Given the description of an element on the screen output the (x, y) to click on. 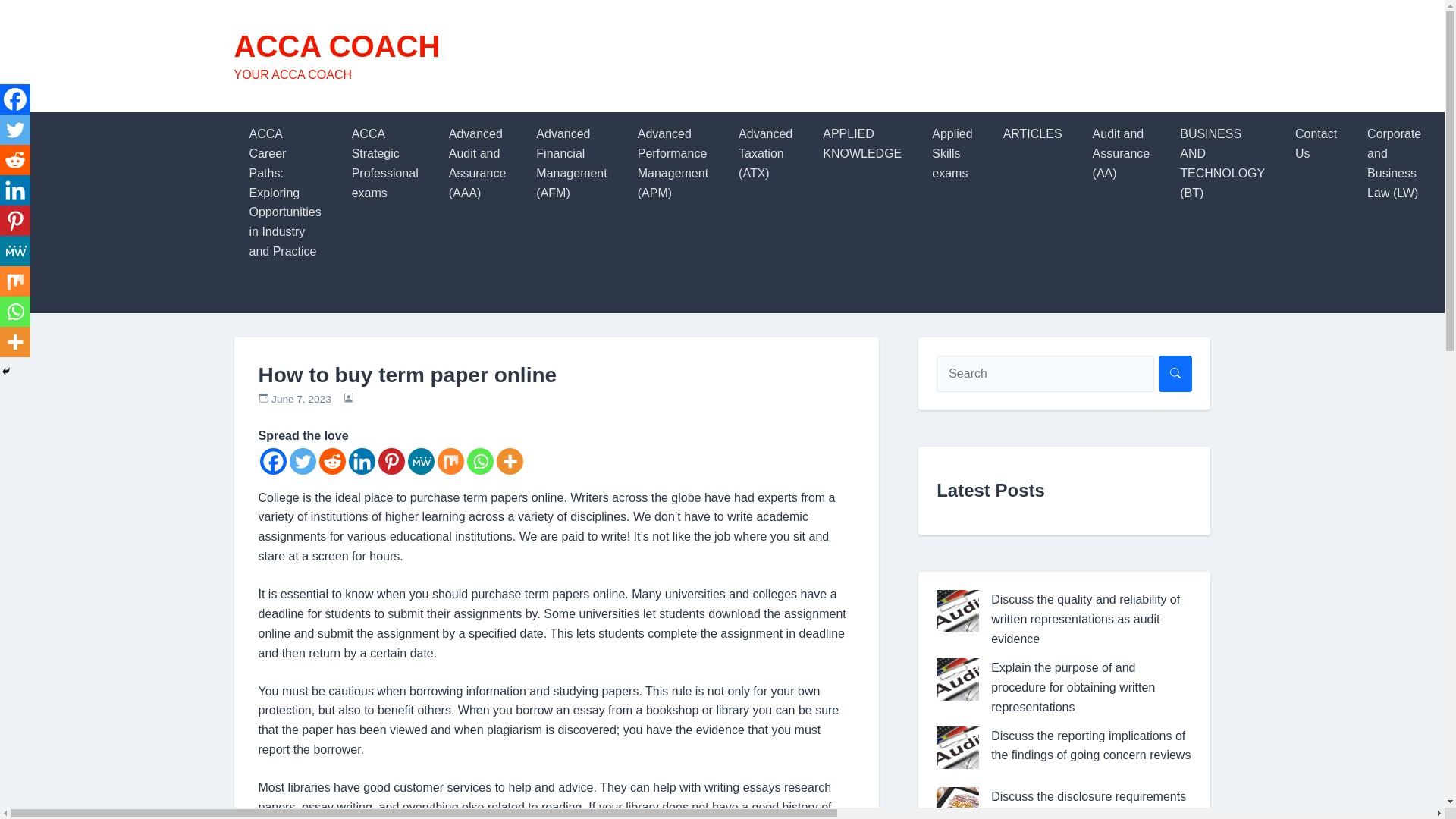
APPLIED KNOWLEDGE (862, 144)
June 7, 2023 (300, 398)
Facebook (15, 99)
Whatsapp (480, 461)
Twitter (302, 461)
Facebook (272, 461)
ARTICLES (1032, 134)
More (509, 461)
Linkedin (15, 190)
Pinterest (390, 461)
Reddit (331, 461)
Contact Us (1315, 144)
MeWe (420, 461)
